Given the description of an element on the screen output the (x, y) to click on. 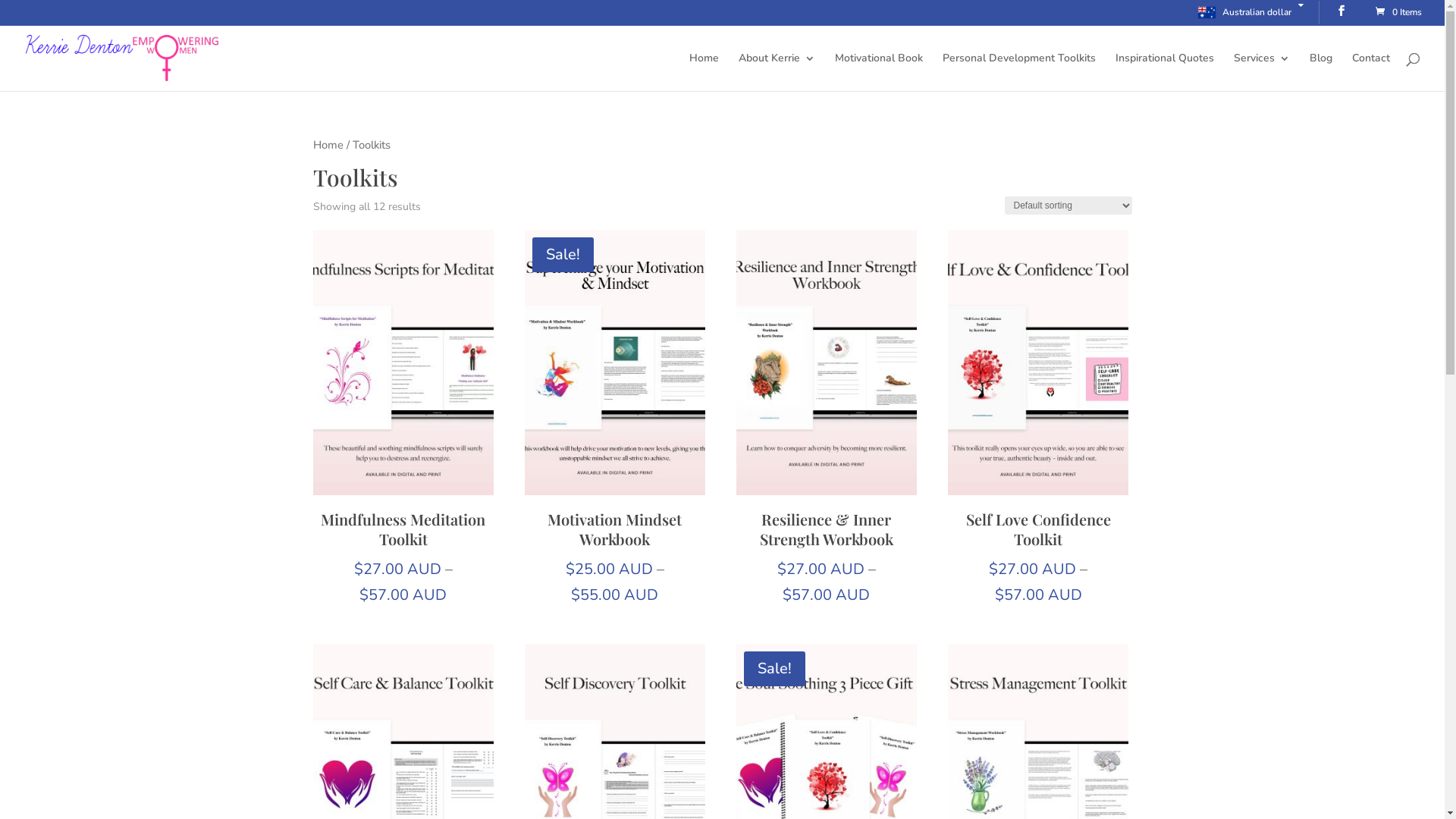
Contact Element type: text (1371, 72)
About Kerrie Element type: text (776, 72)
Motivational Book Element type: text (878, 72)
Inspirational Quotes Element type: text (1164, 72)
Personal Development Toolkits Element type: text (1018, 72)
0 Items Element type: text (1397, 12)
Blog Element type: text (1320, 72)
Home Element type: text (327, 143)
Services Element type: text (1261, 72)
Home Element type: text (703, 72)
